Given the description of an element on the screen output the (x, y) to click on. 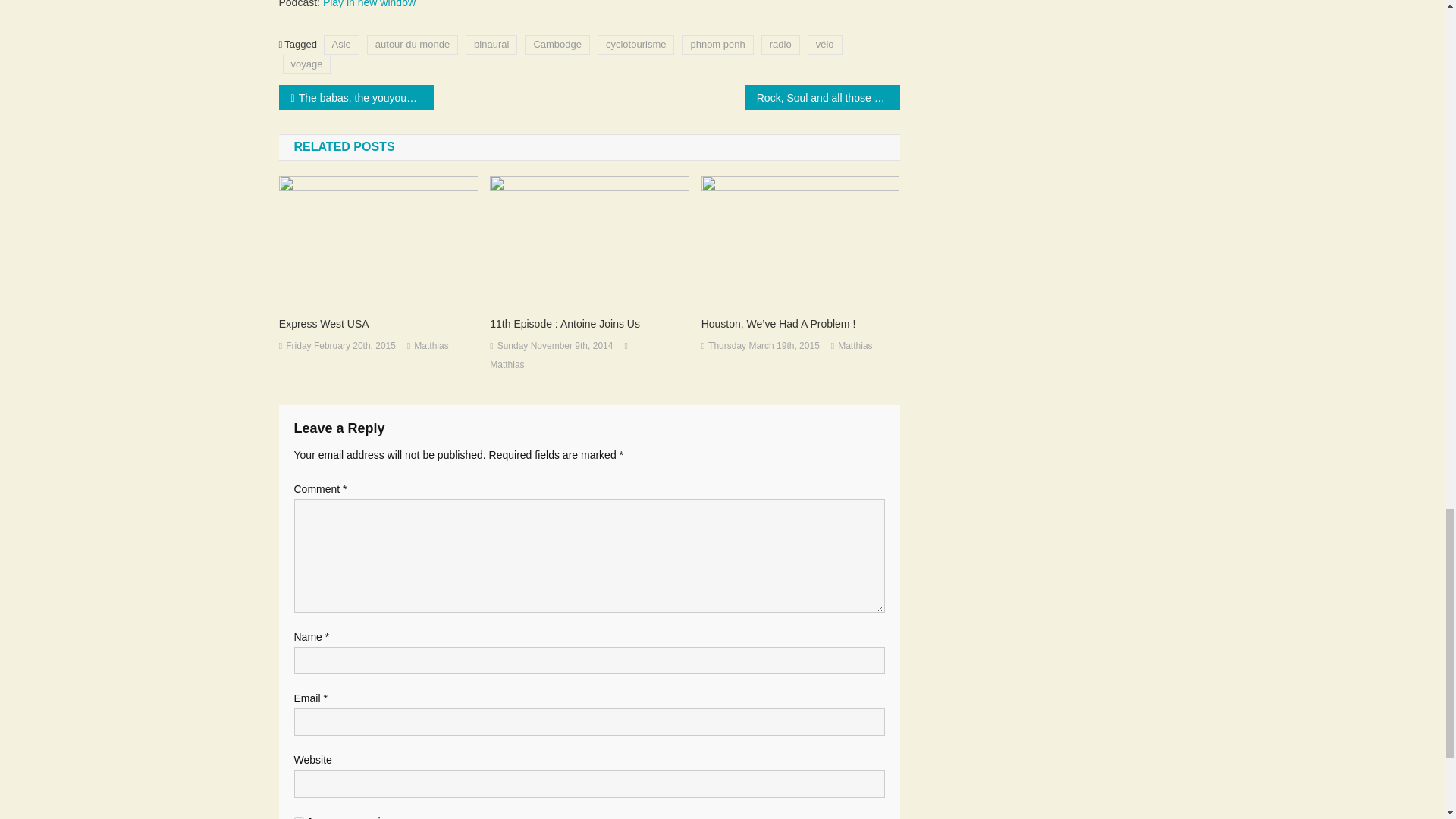
Play in new window (368, 4)
Play in new window (368, 4)
